Given the description of an element on the screen output the (x, y) to click on. 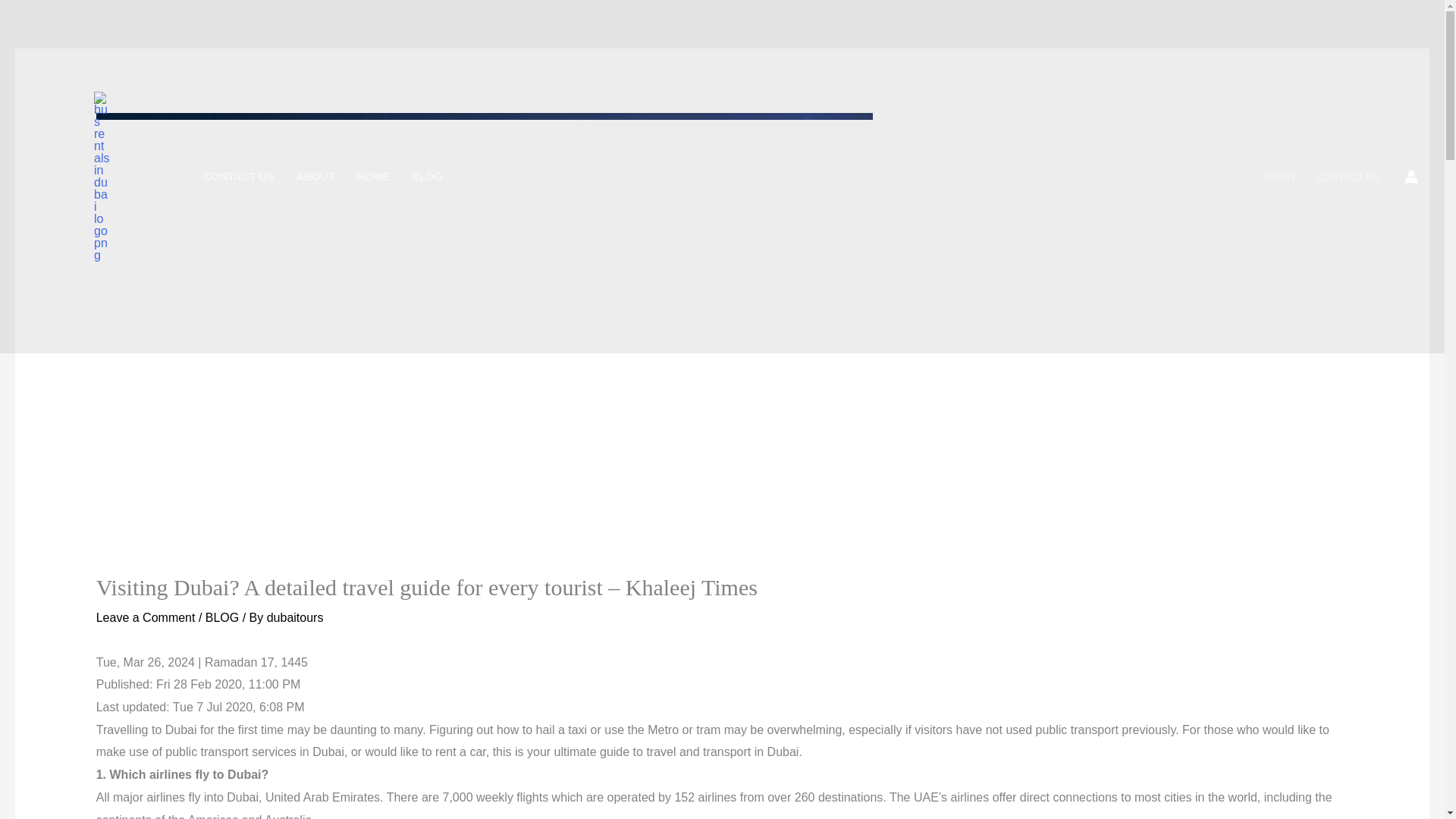
CONTACT US (238, 176)
CONTACT US (1347, 176)
ABOUT (1279, 176)
View all posts by dubaitours (294, 617)
dubaitours (294, 617)
Leave a Comment (145, 617)
ABOUT (315, 176)
BLOG (426, 176)
BLOG (221, 617)
HOME (373, 176)
